Given the description of an element on the screen output the (x, y) to click on. 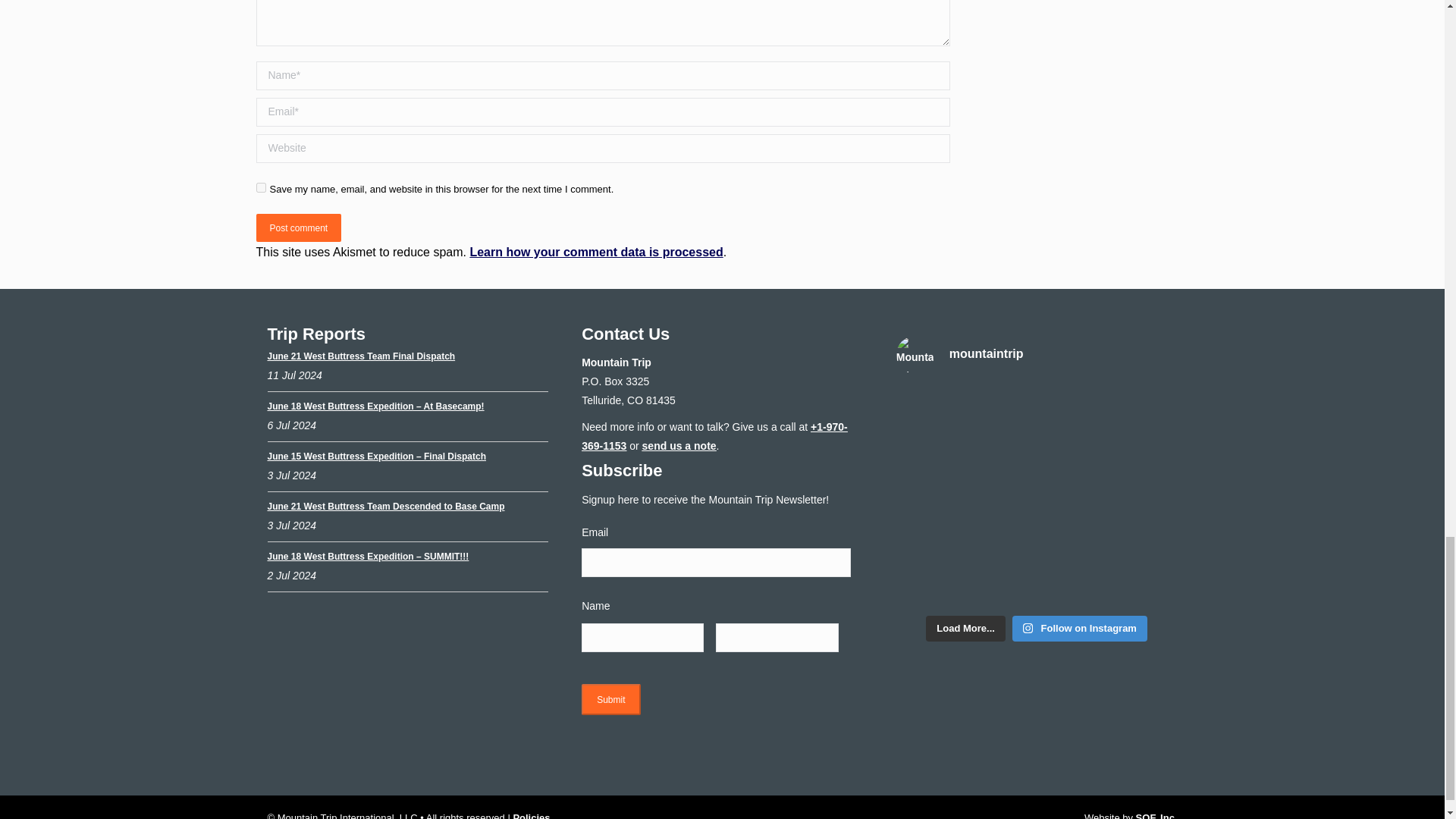
Submit (610, 698)
yes (261, 187)
Permanent link to June 21 West Buttress Team Final Dispatch (360, 356)
